Given the description of an element on the screen output the (x, y) to click on. 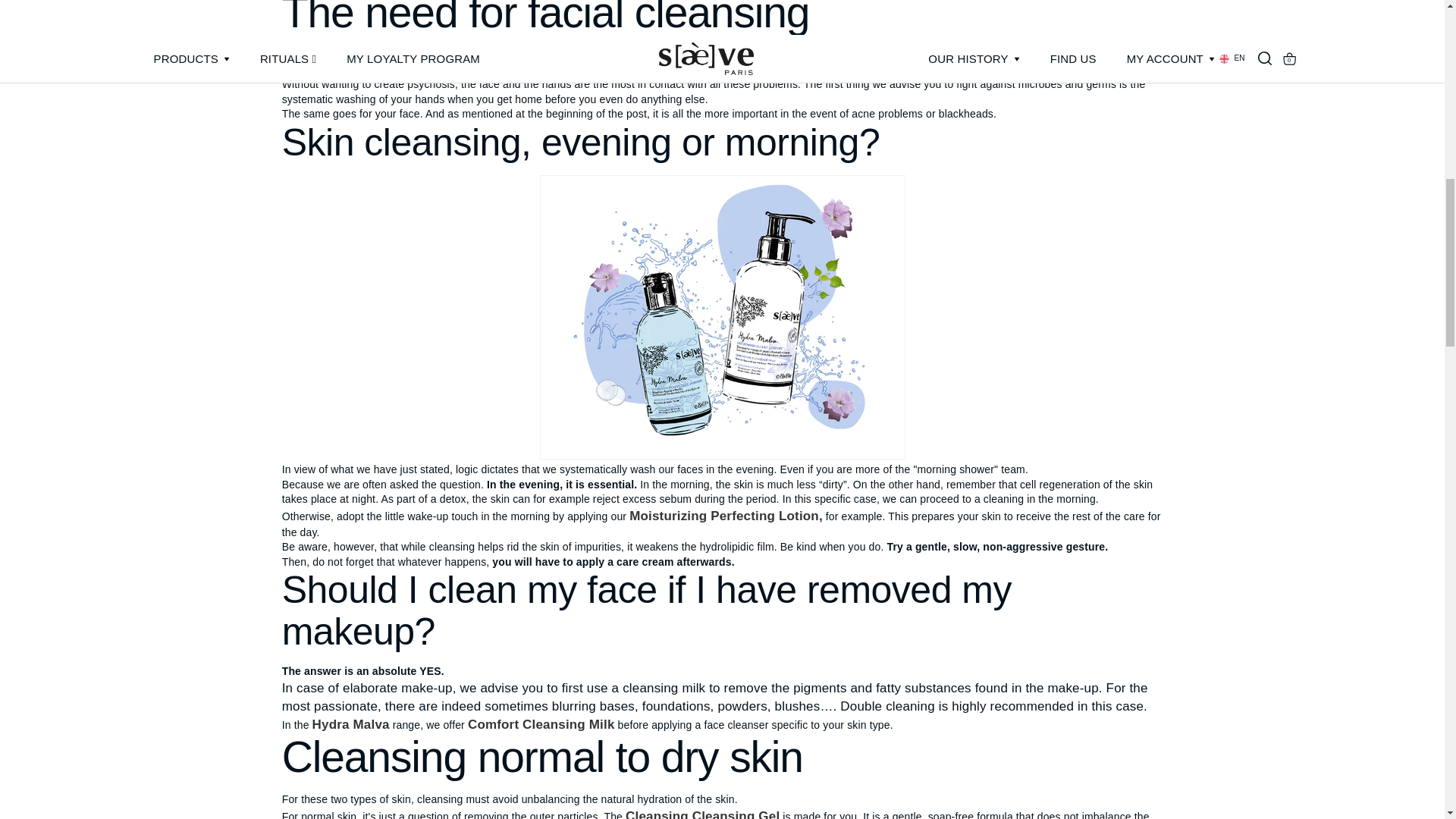
Makeup Removing Cleansing Gel, Hydra Malva (702, 814)
Hydra Malva range (351, 724)
Comfort Cleansing Milk, Hydra Malva (540, 724)
Moisturizing Perfecting Lotion-Care, Hydra Malva (725, 515)
